Given the description of an element on the screen output the (x, y) to click on. 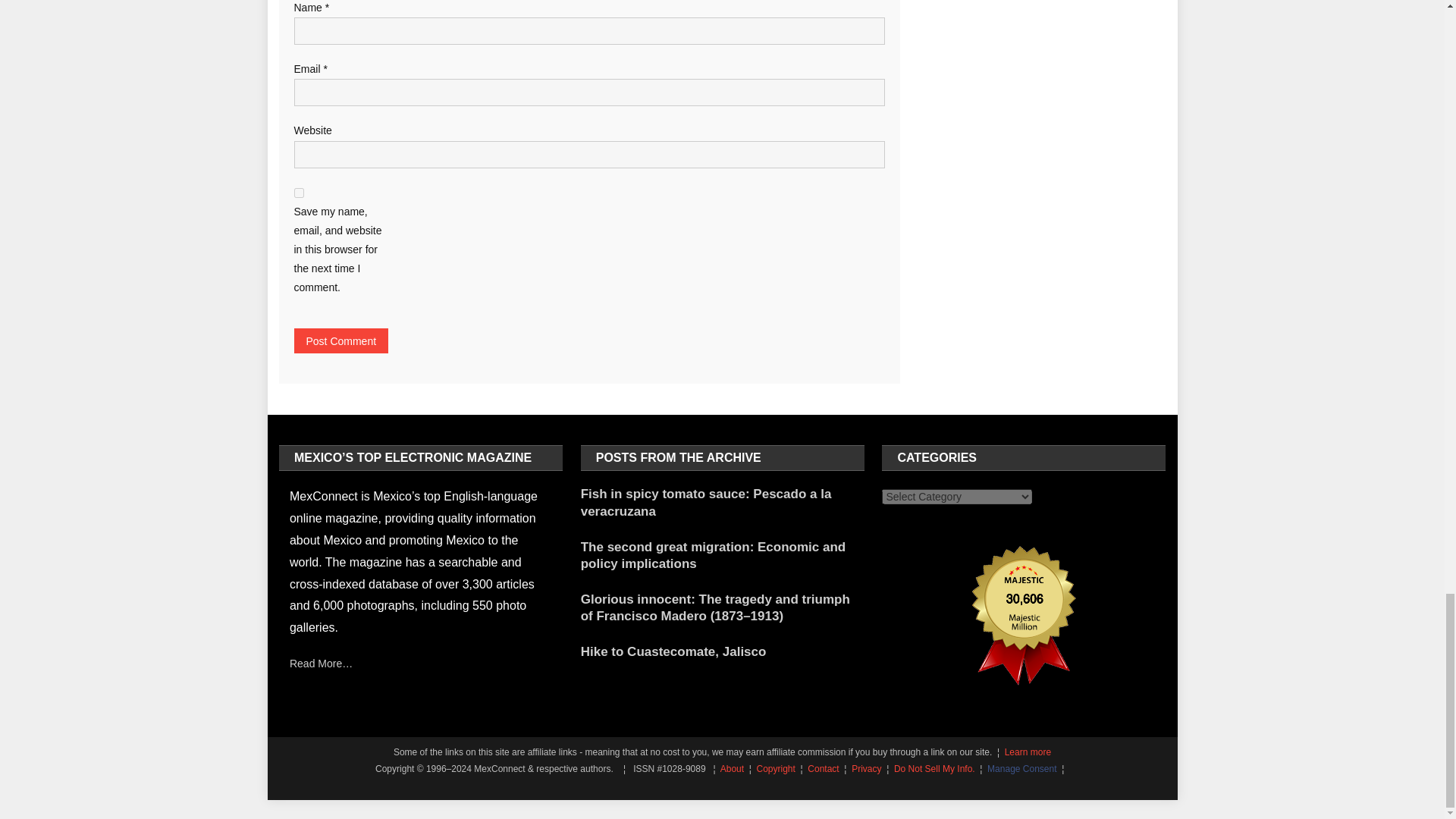
yes (299, 193)
Post Comment (341, 340)
